Given the description of an element on the screen output the (x, y) to click on. 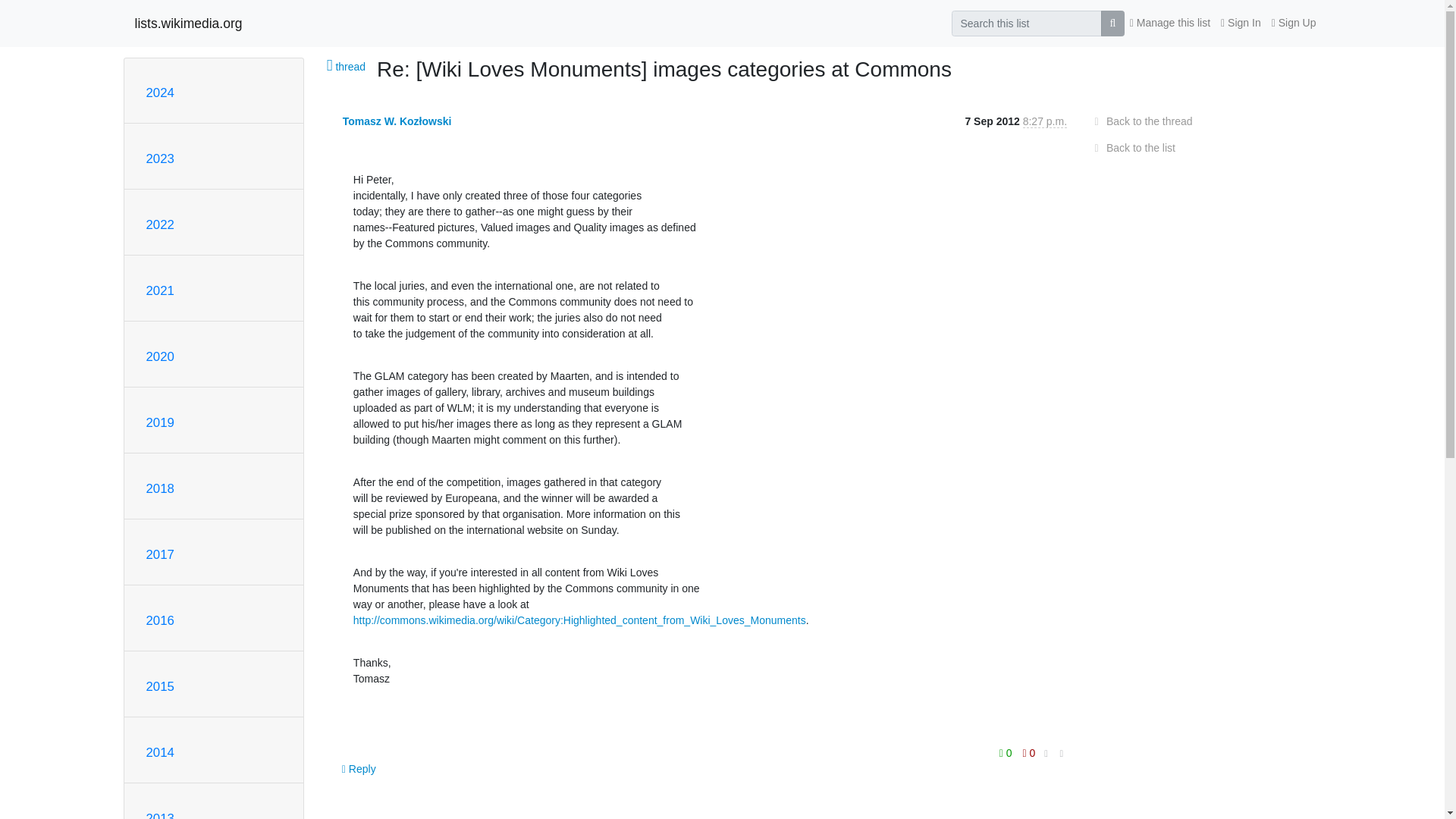
2022 (159, 224)
You must be logged-in to vote. (1007, 752)
You must be logged-in to vote. (1029, 752)
Sender's time: Sept. 7, 2012, 10:27 p.m. (1045, 121)
Sign in to reply online (359, 768)
Manage this list (1169, 22)
Sign In (1240, 22)
lists.wikimedia.org (189, 22)
2024 (159, 92)
2023 (159, 158)
Sign Up (1294, 22)
